Given the description of an element on the screen output the (x, y) to click on. 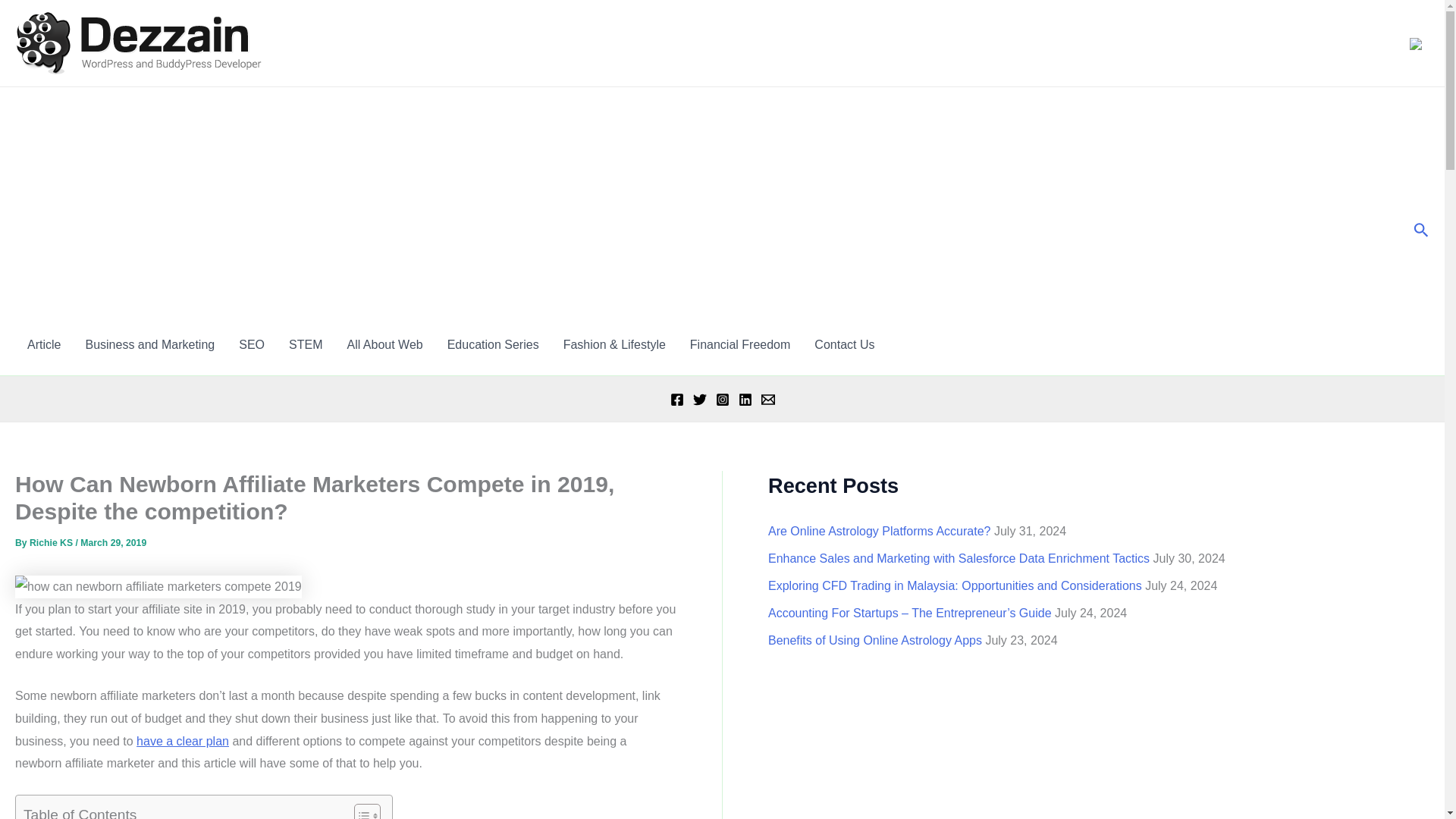
STEM (305, 344)
Richie KS (52, 542)
View all posts by Richie KS (52, 542)
Article (43, 344)
Contact Us (844, 344)
have a clear plan (182, 740)
All About Web (383, 344)
Business and Marketing (149, 344)
Financial Freedom (740, 344)
